Given the description of an element on the screen output the (x, y) to click on. 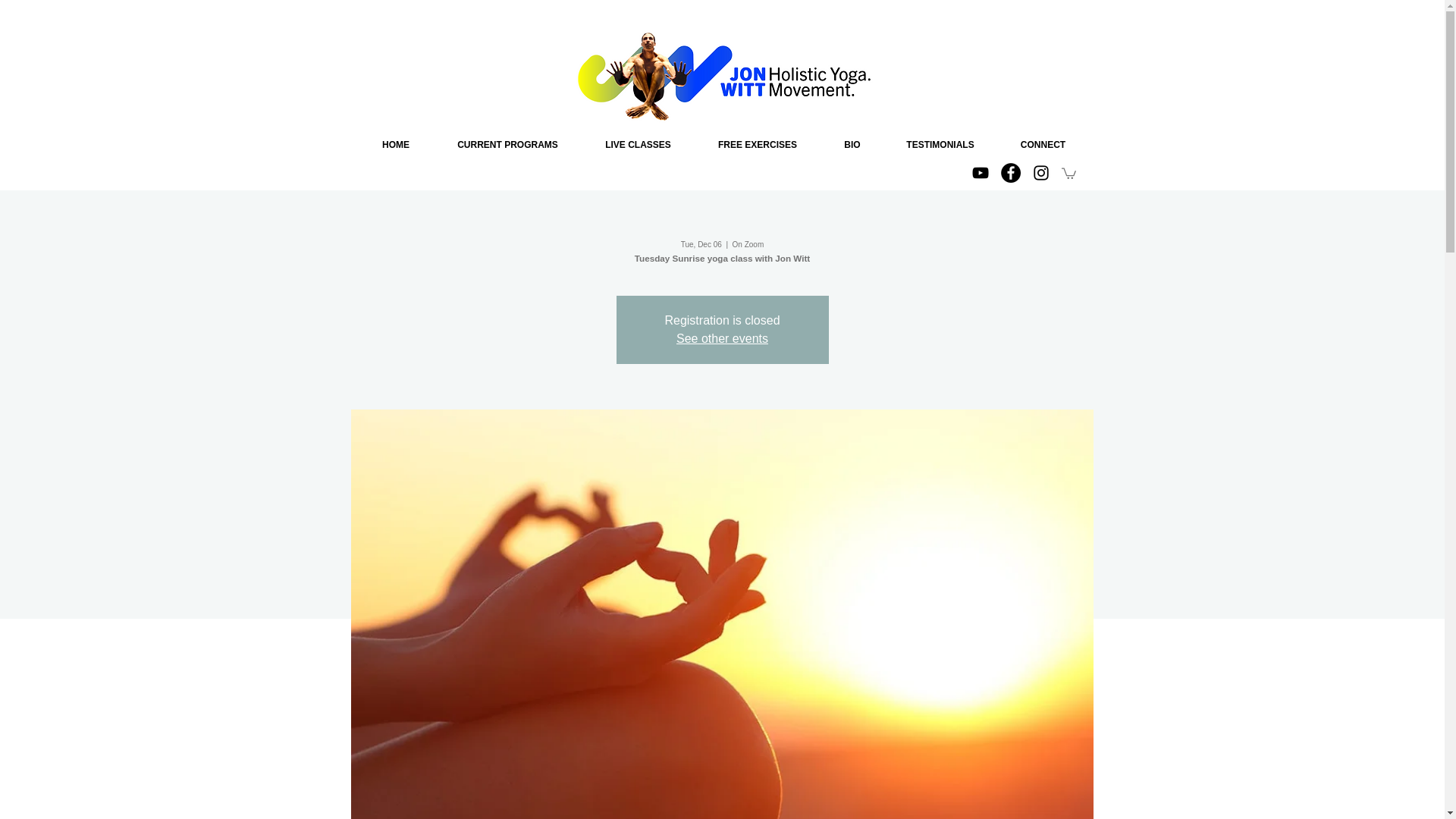
FREE EXERCISES (757, 145)
CURRENT PROGRAMS (507, 145)
LIVE CLASSES (638, 145)
BIO (852, 145)
TESTIMONIALS (940, 145)
HOME (395, 145)
See other events (722, 338)
CONNECT (1042, 145)
